Given the description of an element on the screen output the (x, y) to click on. 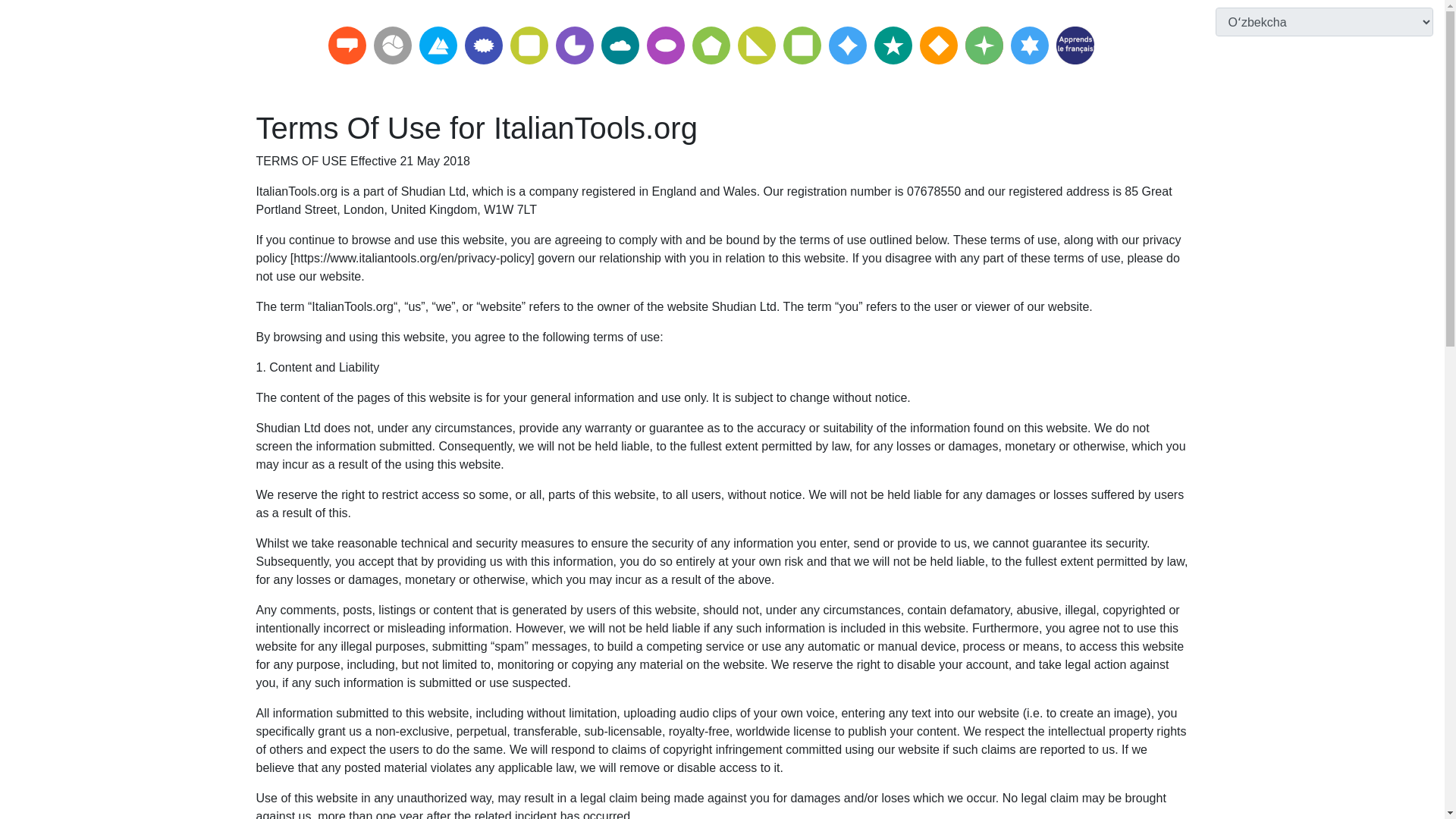
Italyancha gaplarning katta kichik harflari konvertatsiyasi (483, 45)
Type In Italian Online Keyboard (346, 45)
Italyancha gaplarni aralashtirish (892, 45)
Italyancha matnni unikodga konvertatsiya qilish (1029, 45)
Italyancha tasodifiy raqamlarni bingo varaqlarini yaratish (983, 45)
Italyancha raqamlarning bingo varaqlarini yaratish (937, 45)
Italyancha shrift rasm shaklida (802, 45)
Italyancha matnni alifbo shaklida tartiblash (391, 45)
